Given the description of an element on the screen output the (x, y) to click on. 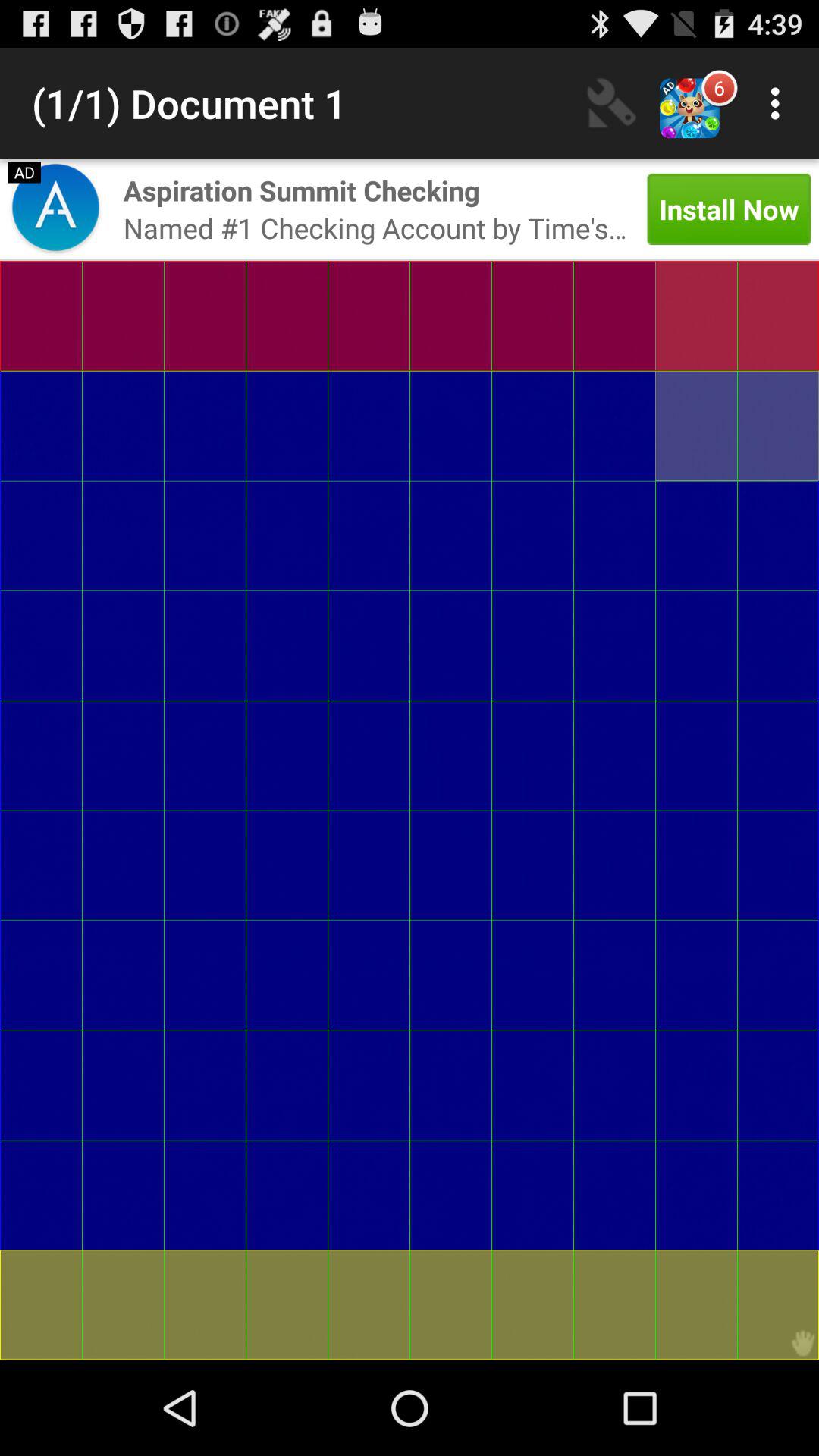
turn on icon next to the named 1 checking icon (729, 209)
